Given the description of an element on the screen output the (x, y) to click on. 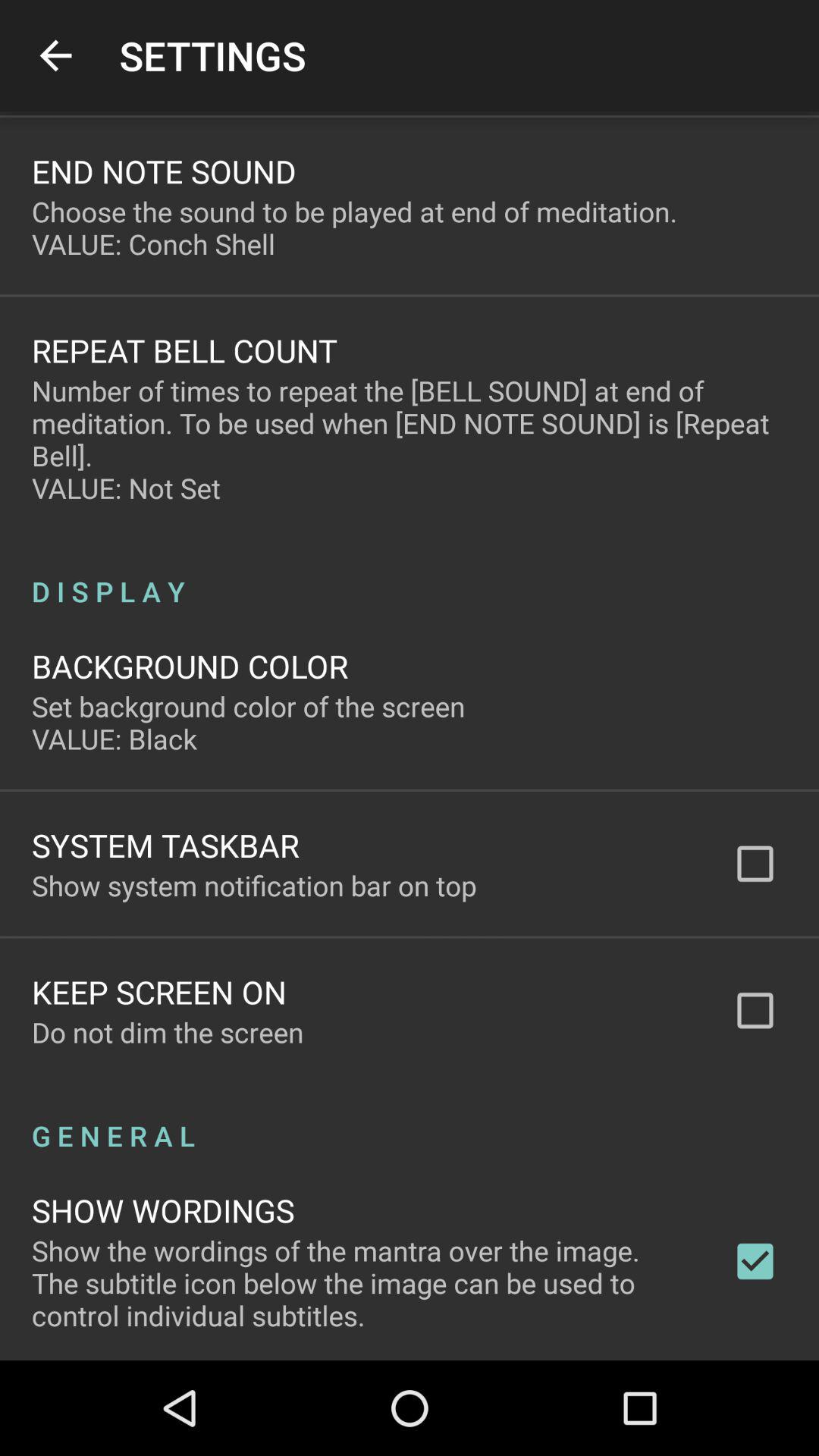
flip to do not dim icon (167, 1032)
